Given the description of an element on the screen output the (x, y) to click on. 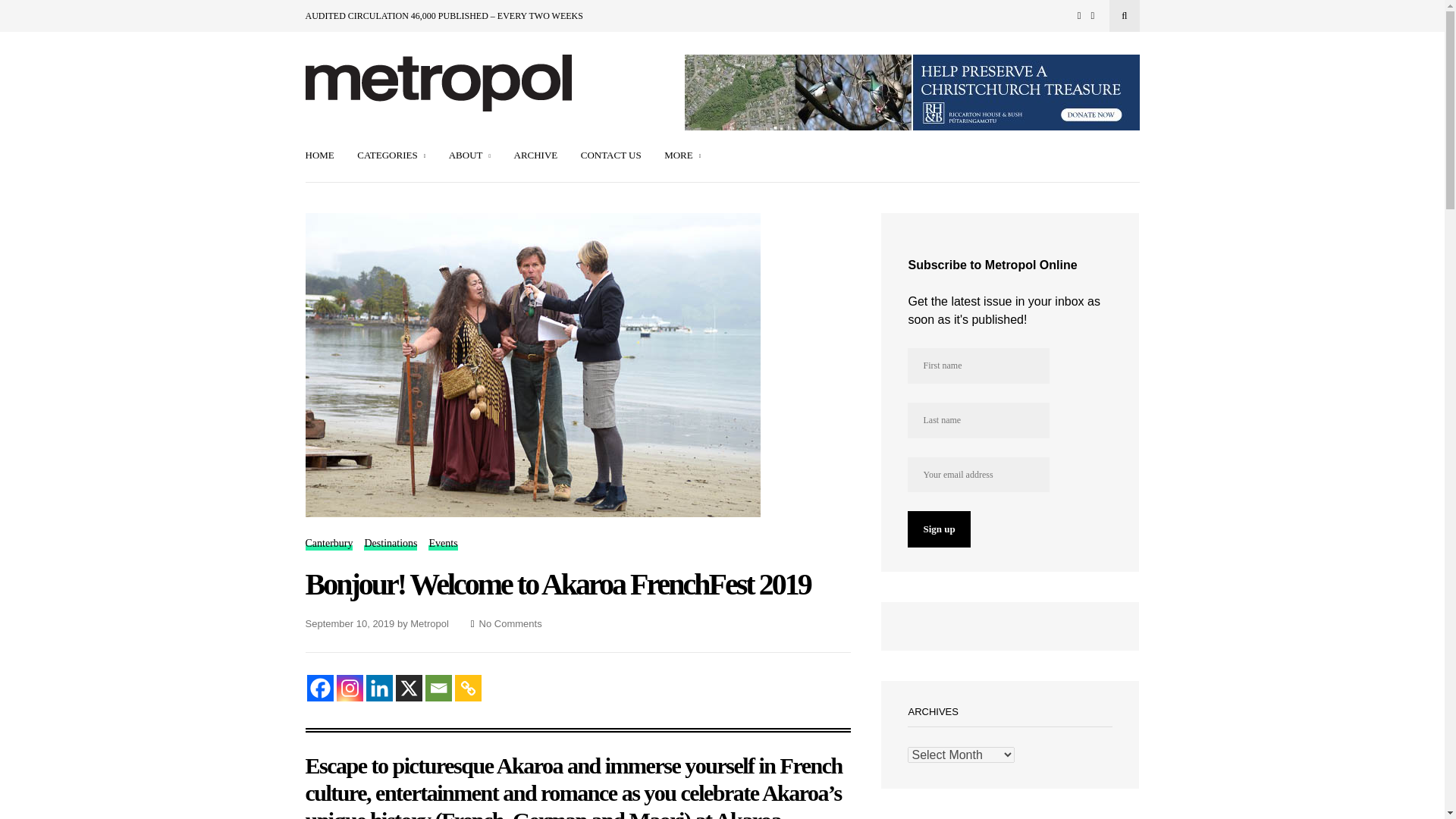
Metropol (429, 623)
Linkedin (378, 687)
CONTACT US (611, 156)
Destinations (390, 544)
Facebook (319, 687)
Events (442, 544)
Sign up (938, 529)
X (409, 687)
Email (438, 687)
Copy Link (467, 687)
CATEGORIES (390, 156)
No Comments (510, 623)
Instagram (349, 687)
Canterbury (328, 544)
